Given the description of an element on the screen output the (x, y) to click on. 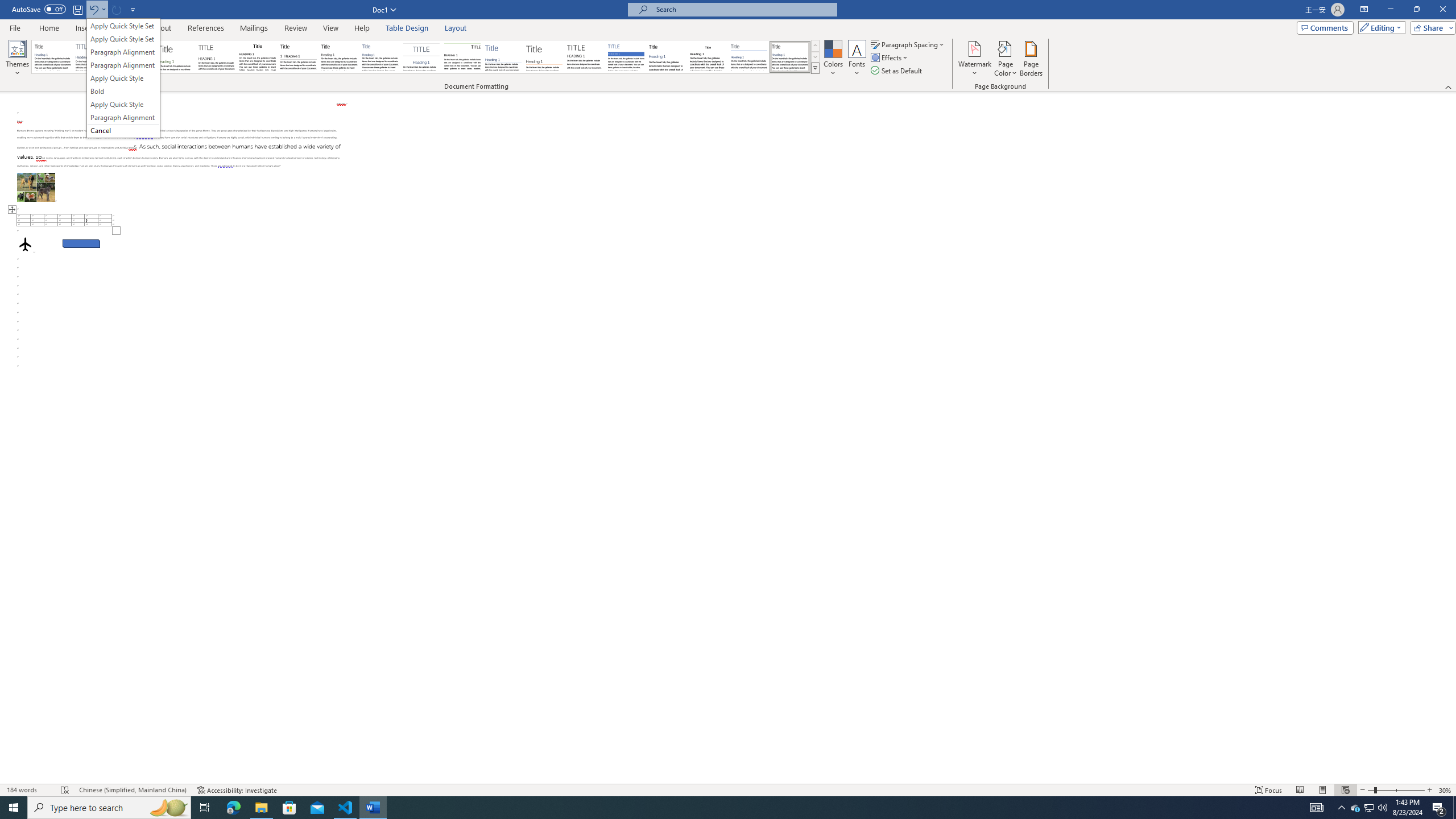
Fonts (856, 58)
Black & White (Word 2013) (338, 56)
Word (666, 56)
Shaded (625, 56)
